Given the description of an element on the screen output the (x, y) to click on. 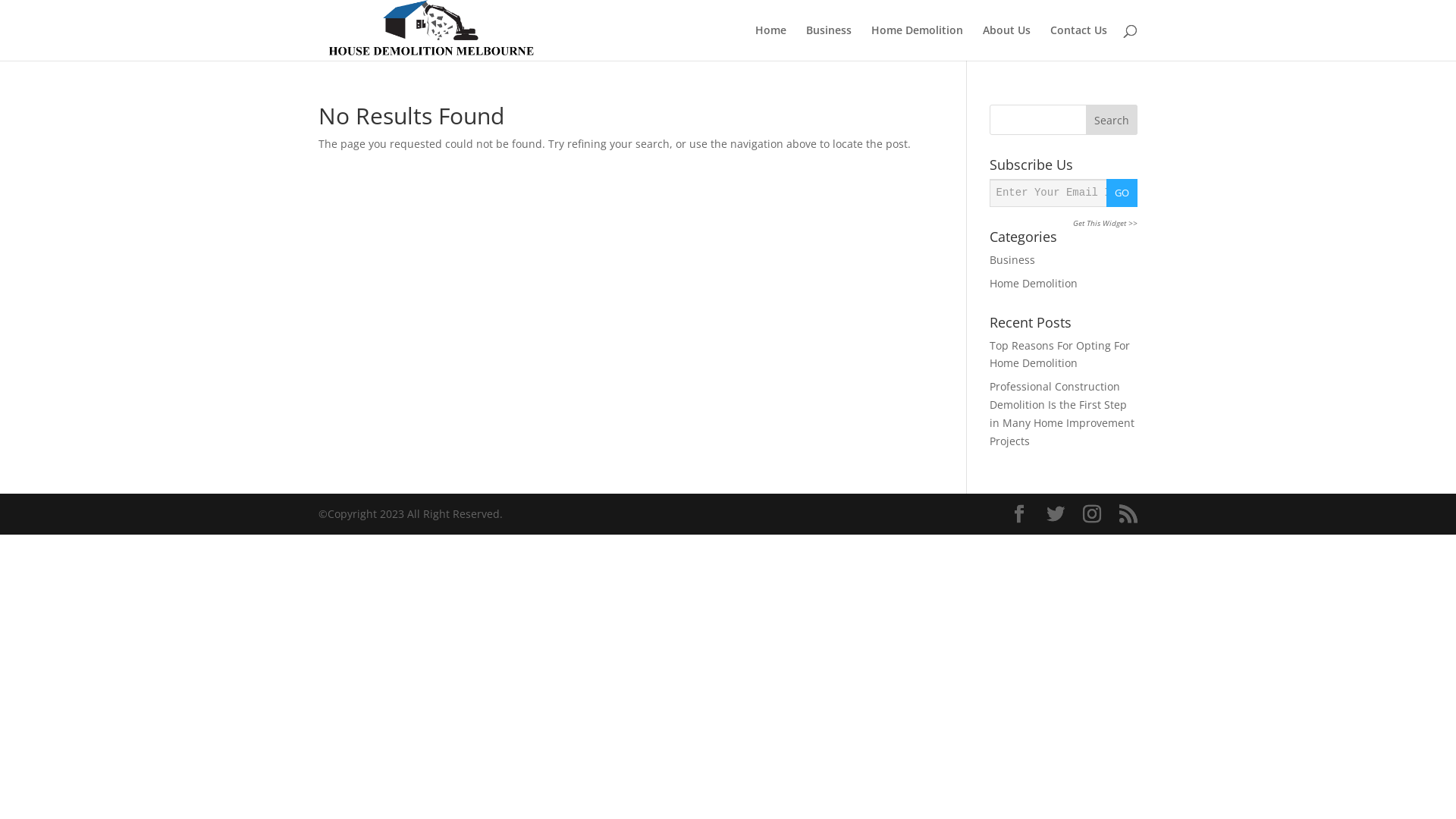
Get This Widget >> Element type: text (1105, 223)
Home Element type: text (770, 42)
Home Demolition Element type: text (1033, 283)
GO Element type: text (1121, 192)
Search Element type: text (1111, 119)
About Us Element type: text (1006, 42)
Business Element type: text (828, 42)
Top Reasons For Opting For Home Demolition Element type: text (1059, 354)
Home Demolition Element type: text (917, 42)
Business Element type: text (1012, 259)
Contact Us Element type: text (1078, 42)
